Given the description of an element on the screen output the (x, y) to click on. 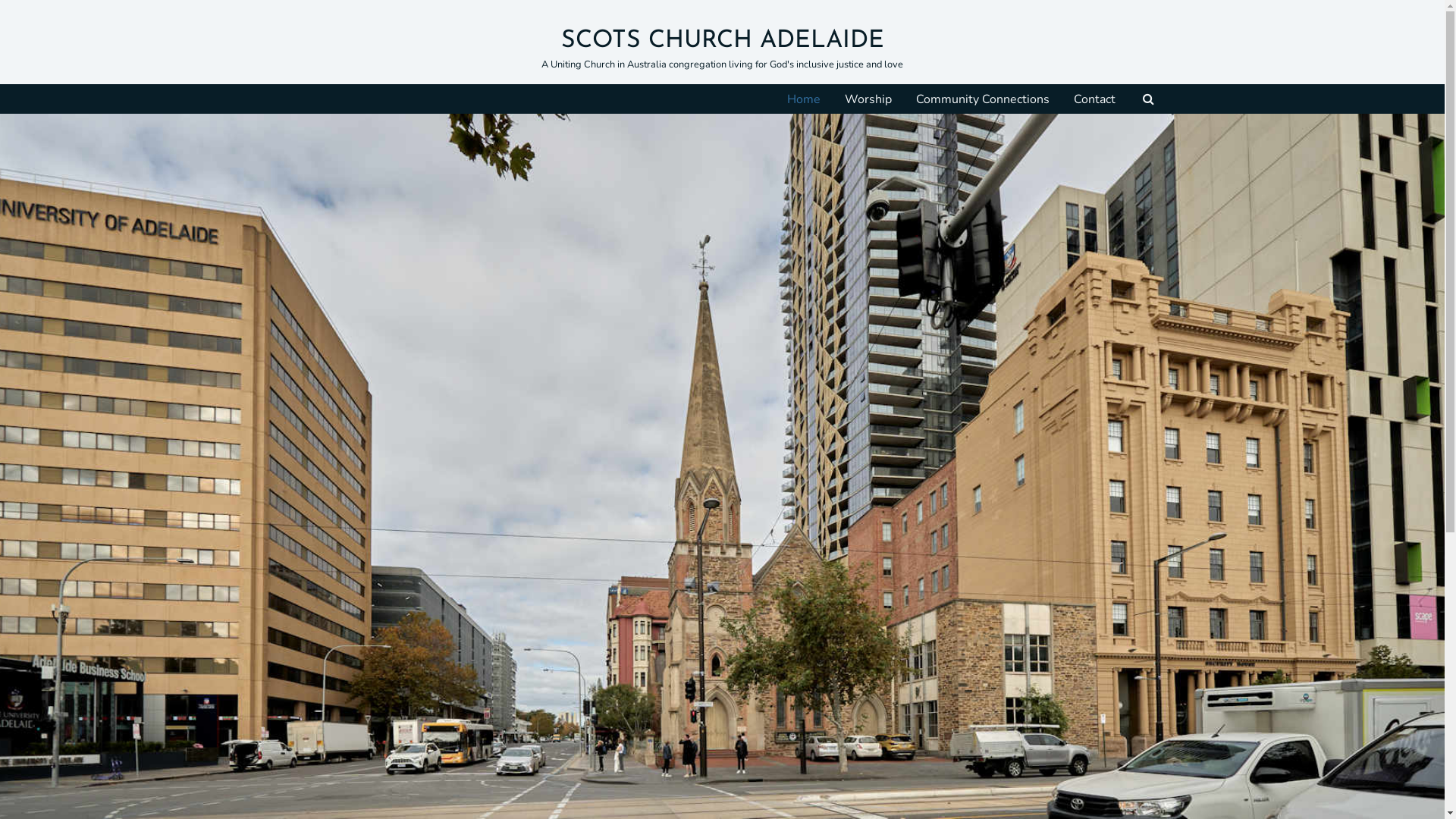
Contact Element type: text (1094, 98)
SCOTS CHURCH ADELAIDE Element type: text (722, 40)
Community Connections Element type: text (982, 98)
Home Element type: text (803, 98)
Worship Element type: text (867, 98)
